Given the description of an element on the screen output the (x, y) to click on. 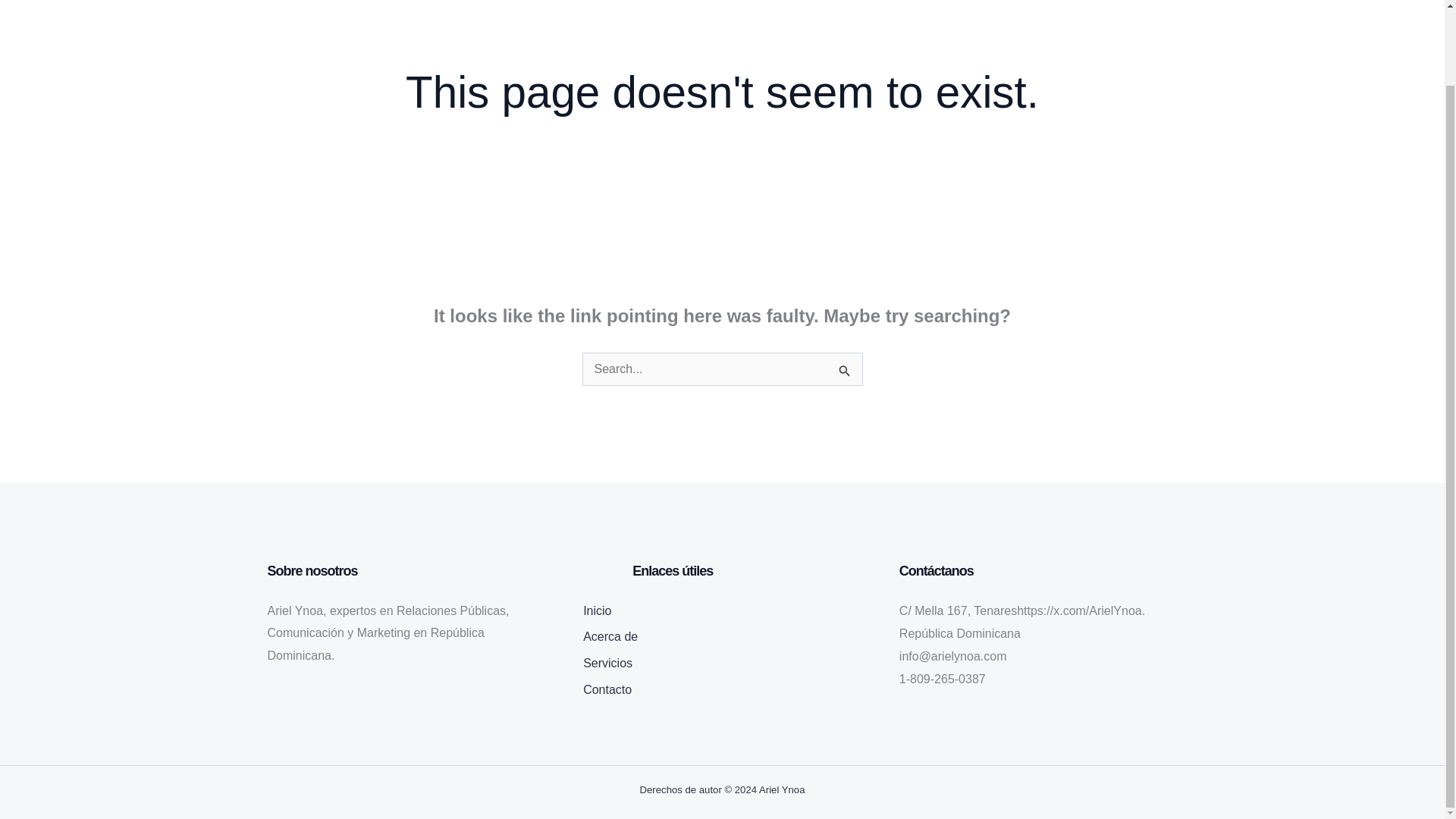
Contacto (607, 691)
Search (844, 372)
Servicios (607, 664)
Search (844, 372)
Search (844, 372)
Inicio (597, 612)
Acerca de (610, 638)
